Given the description of an element on the screen output the (x, y) to click on. 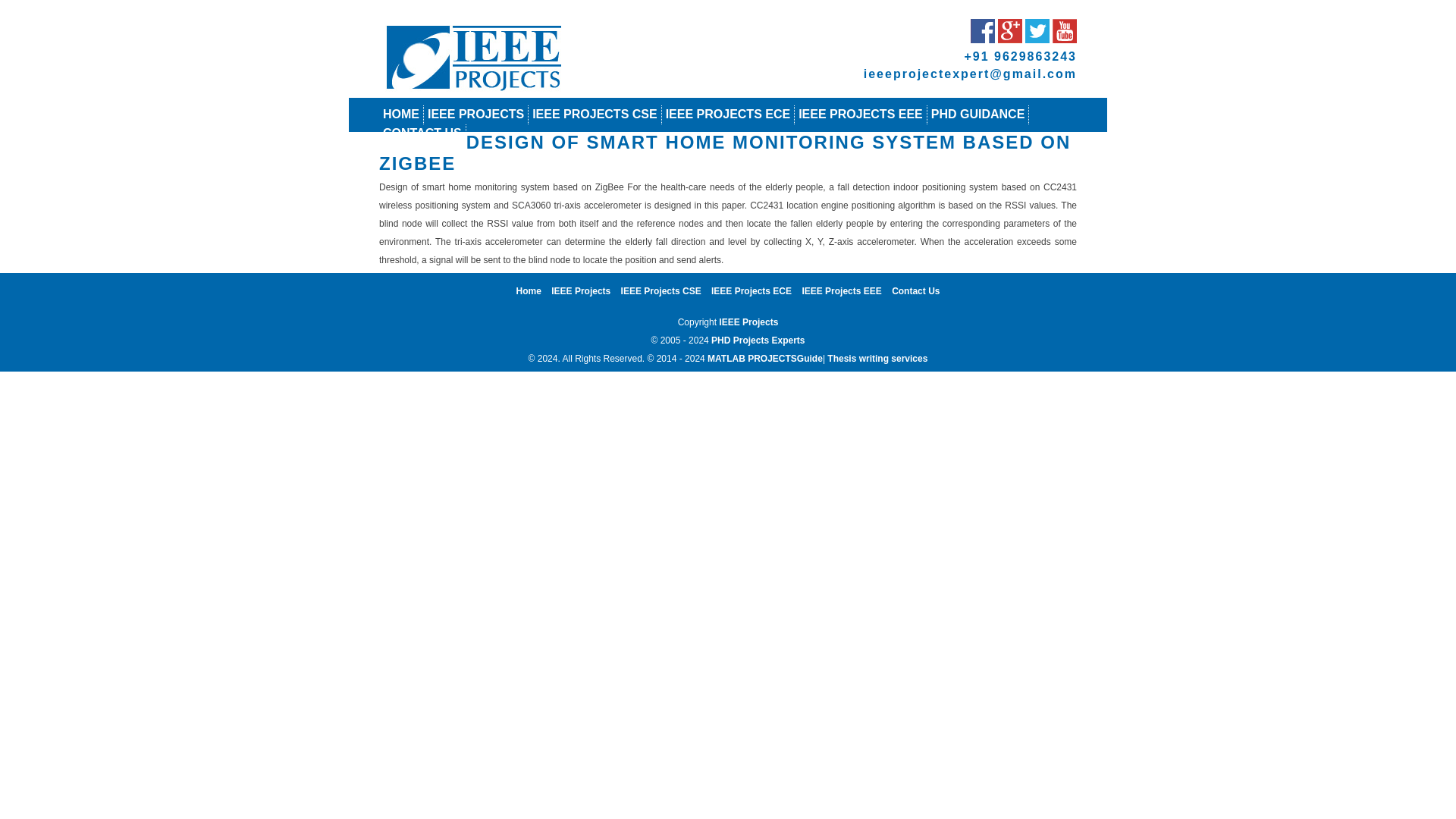
IEEE PROJECTS (476, 113)
IEEE PROJECTS CSE (595, 113)
IEEE PROJECTS EEE (860, 113)
IEEE PROJECTS ECE (727, 113)
Home (528, 290)
IEEE Projects CSE (661, 290)
PHD GUIDANCE (978, 113)
HOME (400, 113)
IEEE Projects ECE (751, 290)
IEEE Projects (580, 290)
